Given the description of an element on the screen output the (x, y) to click on. 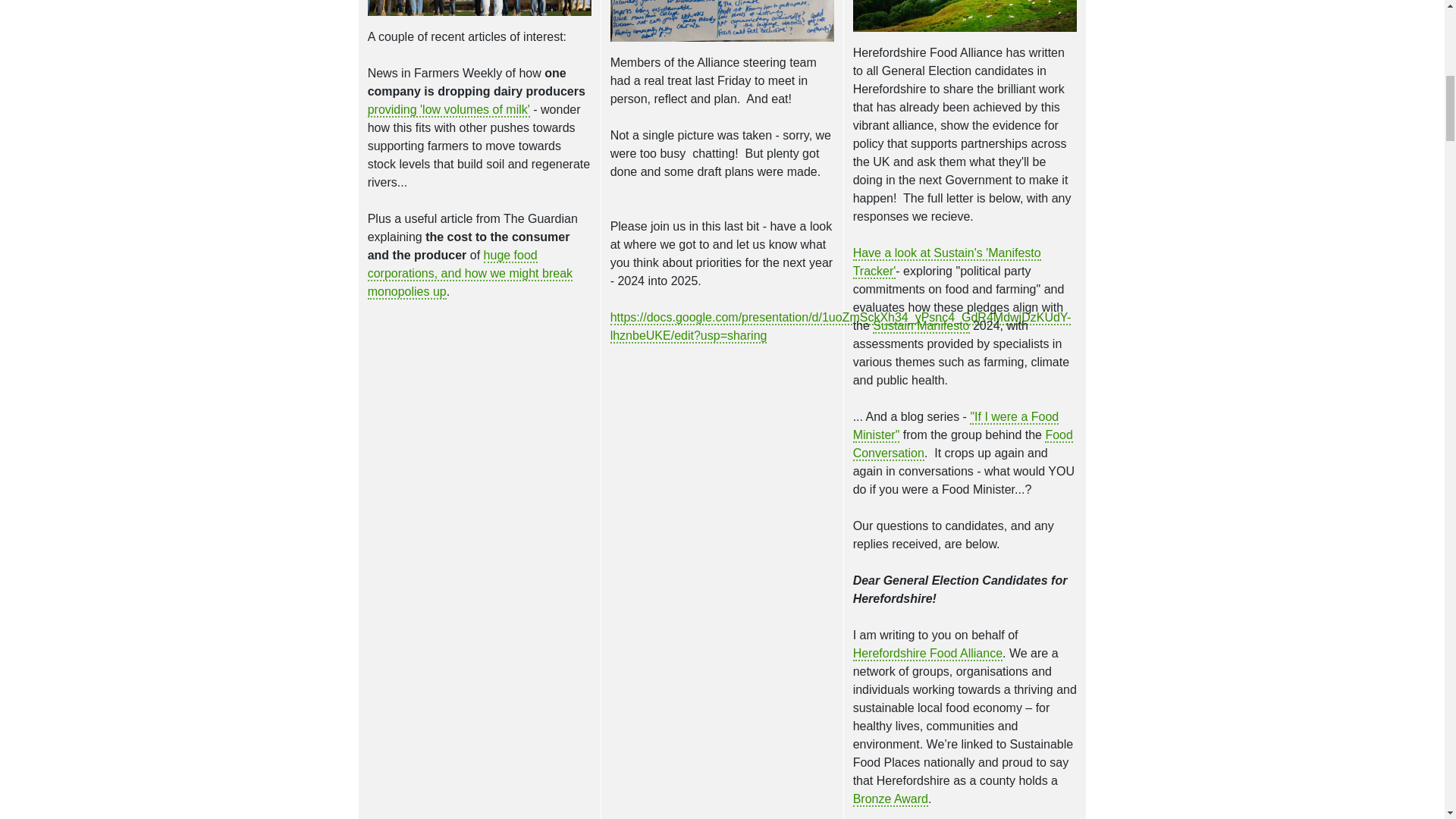
huge food corporations, and how we might break monopolies up (470, 273)
Bronze Award (890, 799)
Food Conversation (963, 444)
"If I were a Food Minister" (956, 426)
providing 'low volumes of milk' (448, 110)
Herefordshire Food Alliance (928, 653)
Sustain Manifesto (920, 326)
Have a look at Sustain's 'Manifesto Tracker' (947, 262)
